Given the description of an element on the screen output the (x, y) to click on. 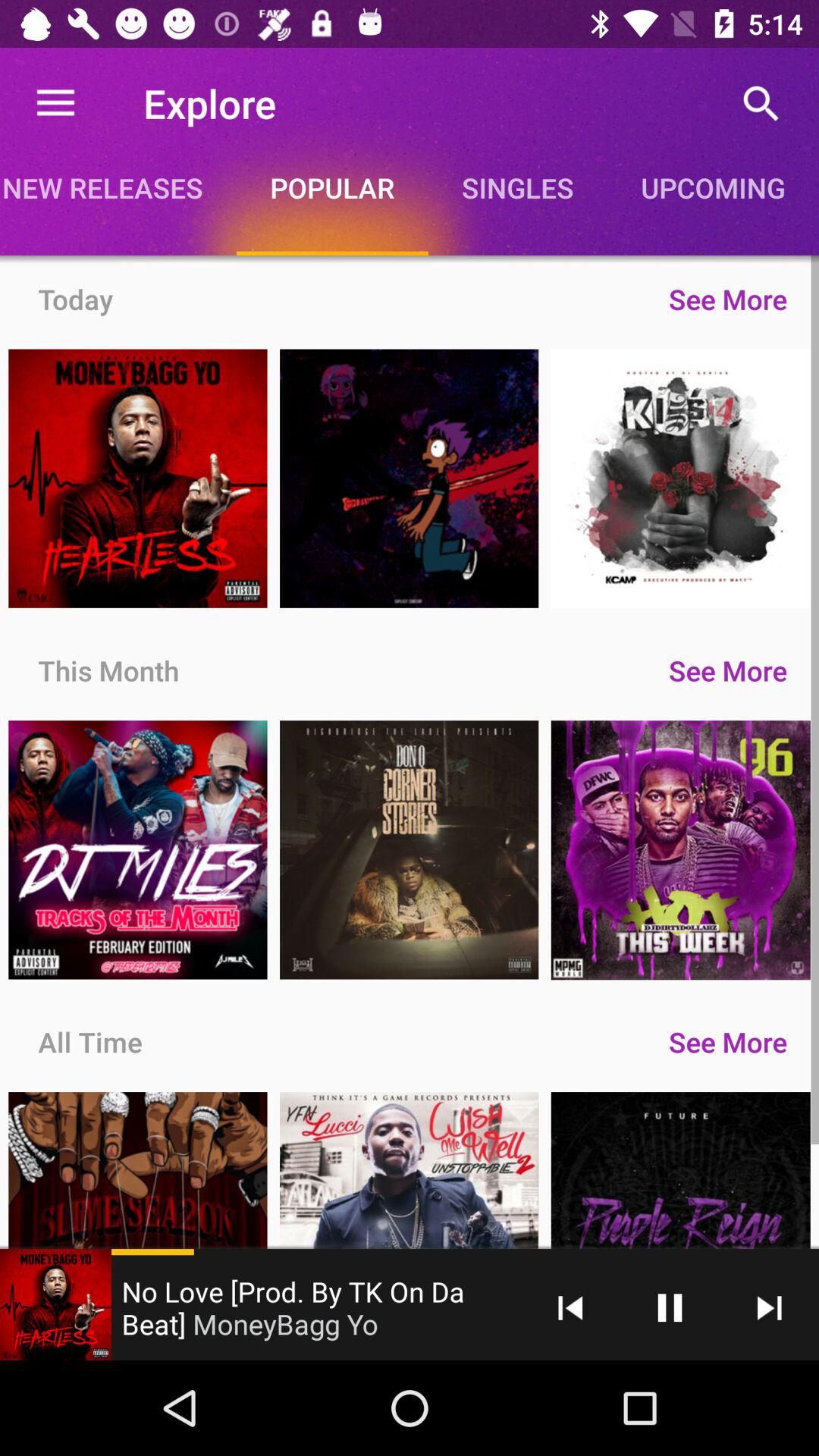
launch the item to the left of the explore icon (55, 103)
